Given the description of an element on the screen output the (x, y) to click on. 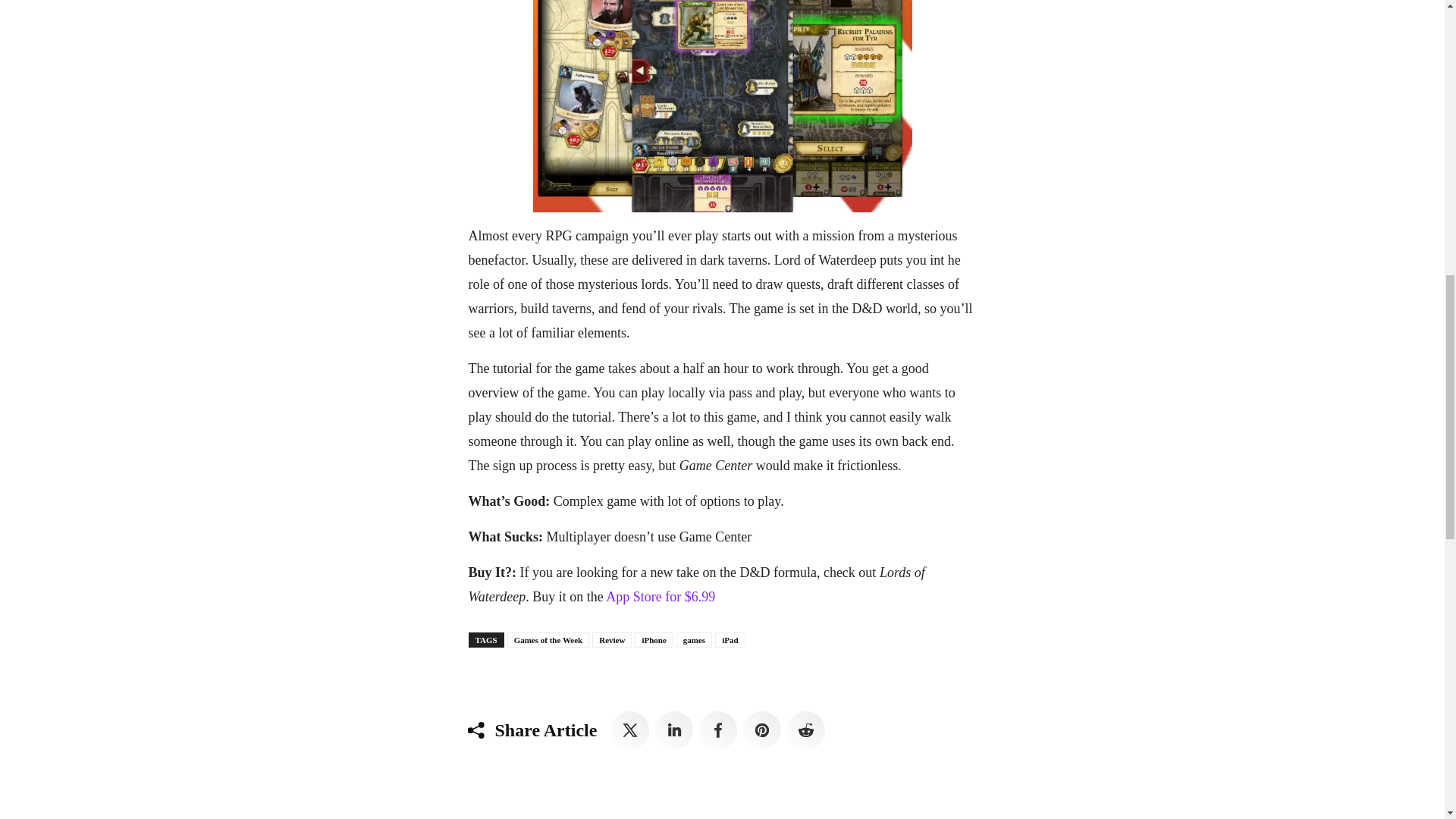
Twitter (630, 730)
iPhone (653, 639)
Pinterest (761, 730)
games (694, 639)
Facebook (717, 730)
Games of the Week (547, 639)
iPad (729, 639)
Linkedin (674, 730)
Review (611, 639)
ReddIt (806, 730)
